Given the description of an element on the screen output the (x, y) to click on. 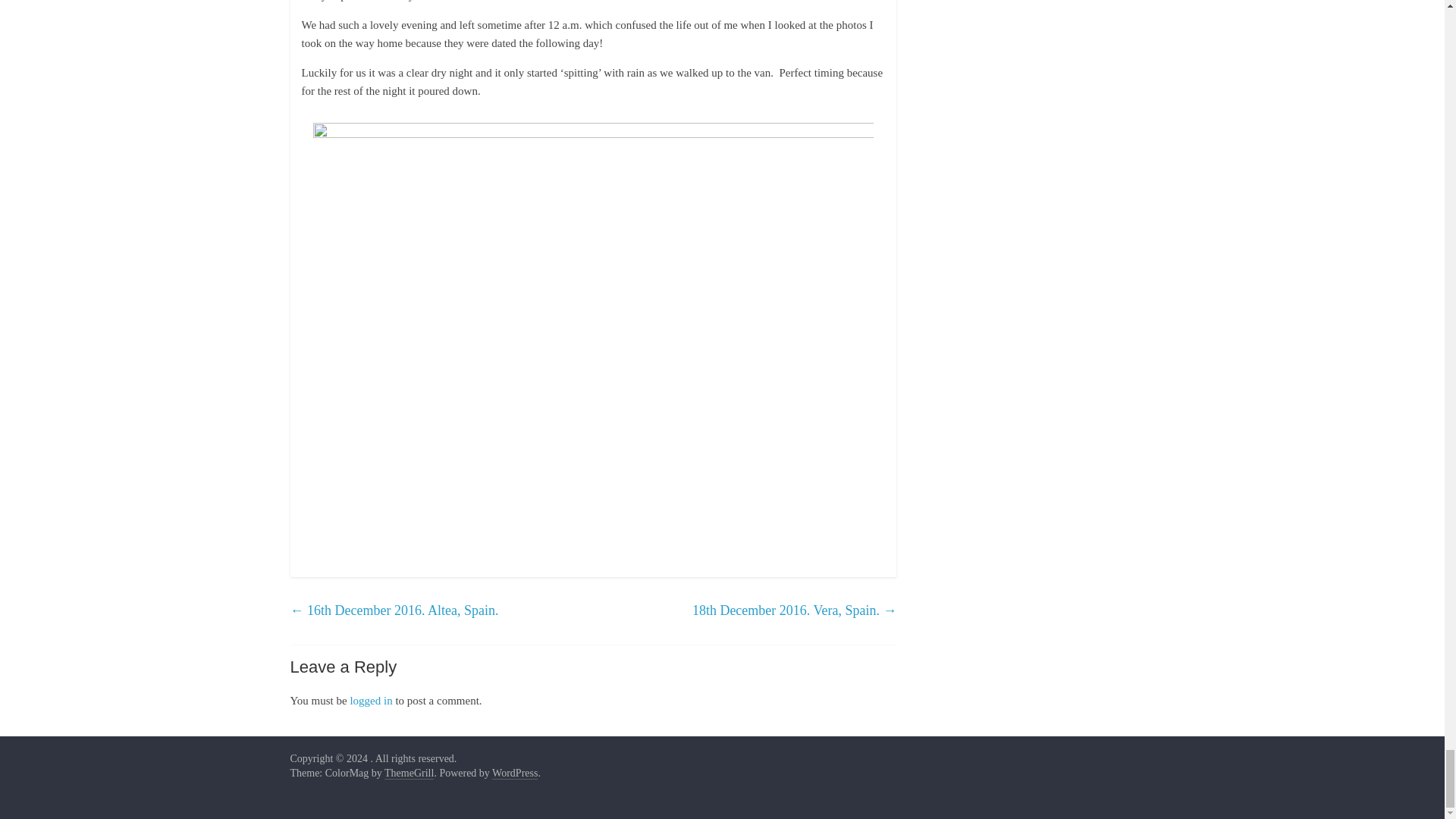
WordPress (514, 773)
ThemeGrill (408, 773)
